Given the description of an element on the screen output the (x, y) to click on. 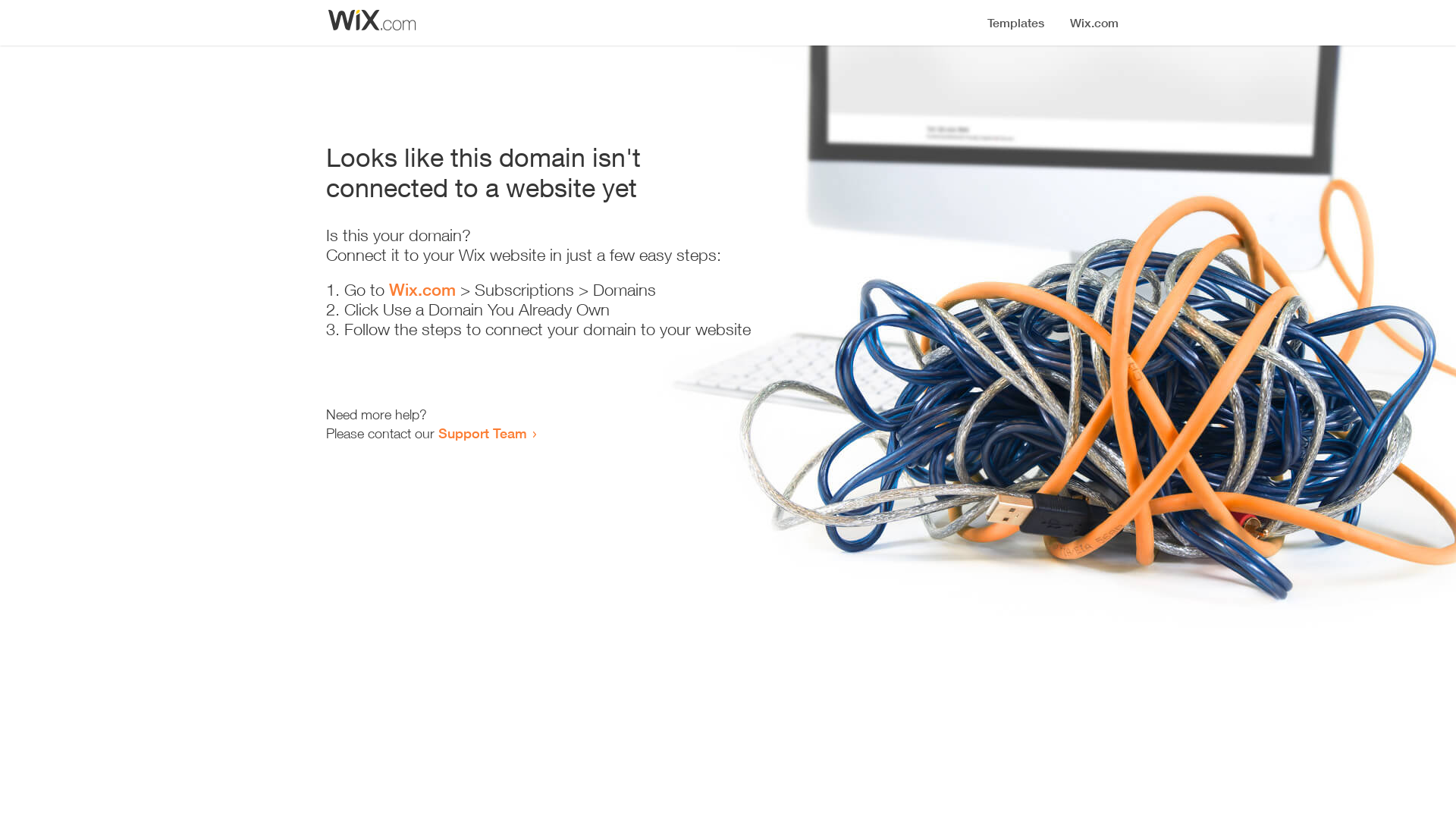
Wix.com Element type: text (422, 289)
Support Team Element type: text (482, 432)
